Given the description of an element on the screen output the (x, y) to click on. 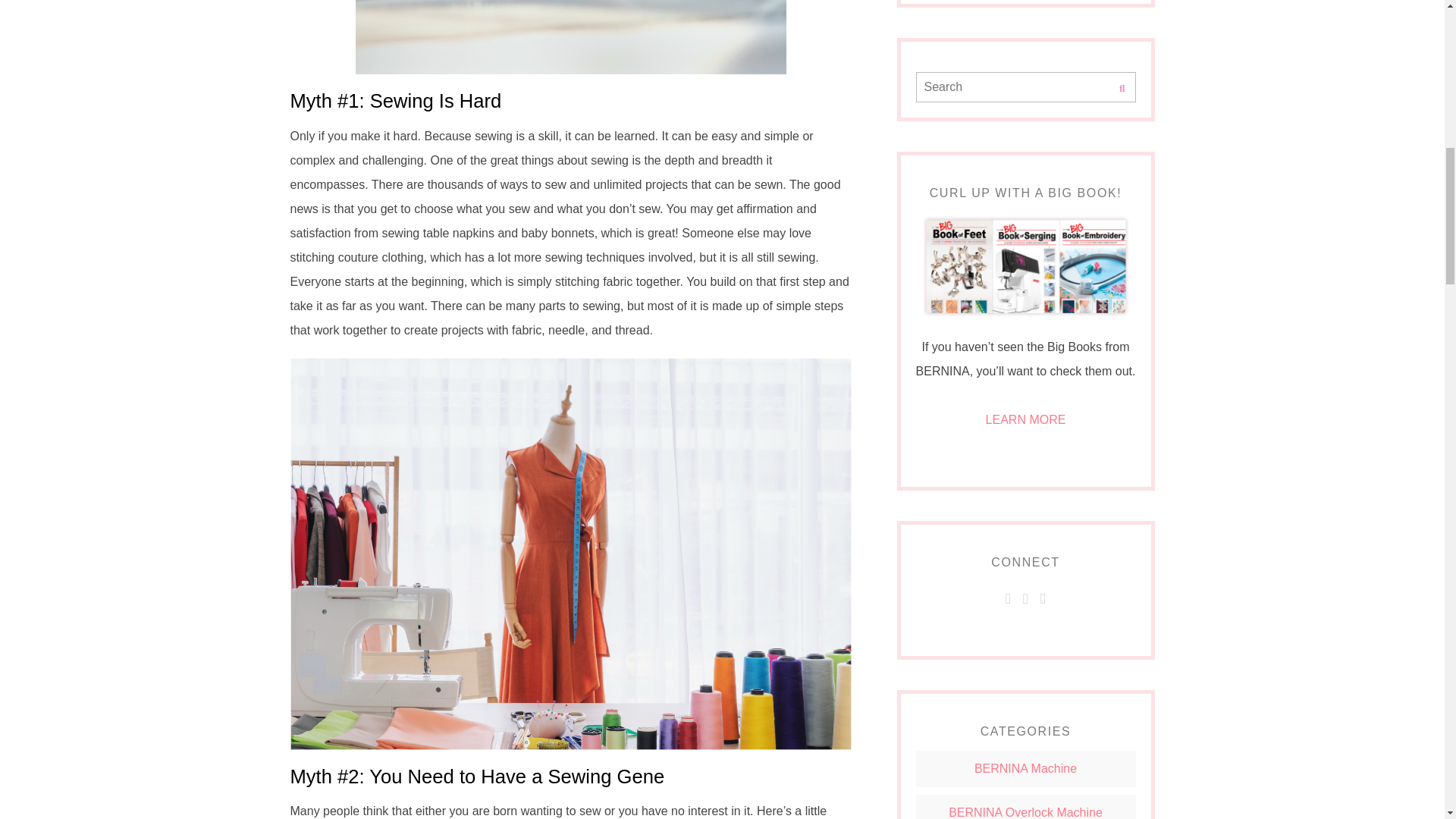
presser foot (570, 37)
